Given the description of an element on the screen output the (x, y) to click on. 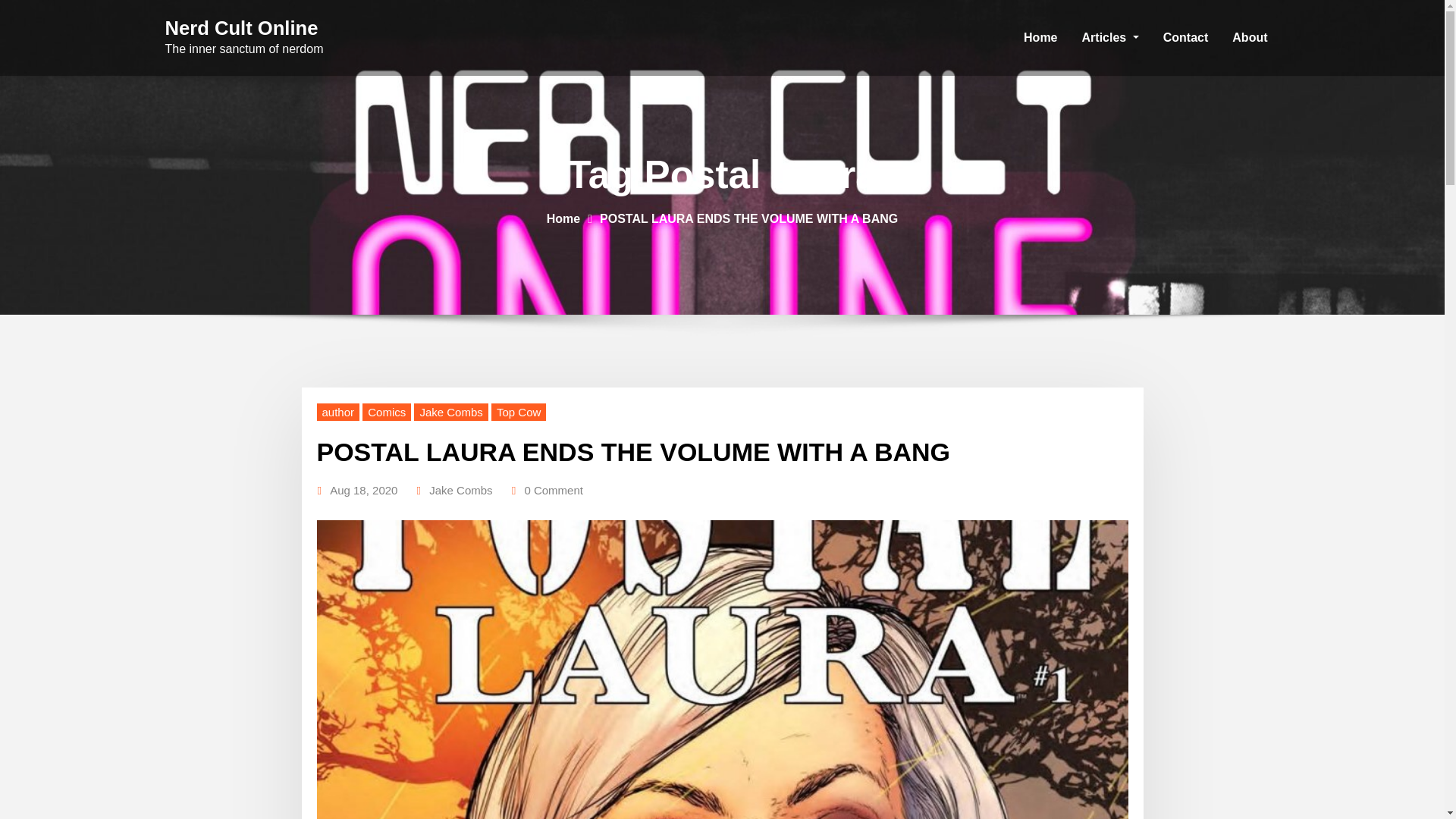
Jake Combs (460, 490)
author (338, 411)
Jake Combs (450, 411)
Nerd Cult Online (241, 27)
Top Cow (519, 411)
Home (563, 218)
POSTAL LAURA ENDS THE VOLUME WITH A BANG (748, 218)
Contact (1186, 38)
Articles (1110, 38)
0 Comment (553, 490)
